Given the description of an element on the screen output the (x, y) to click on. 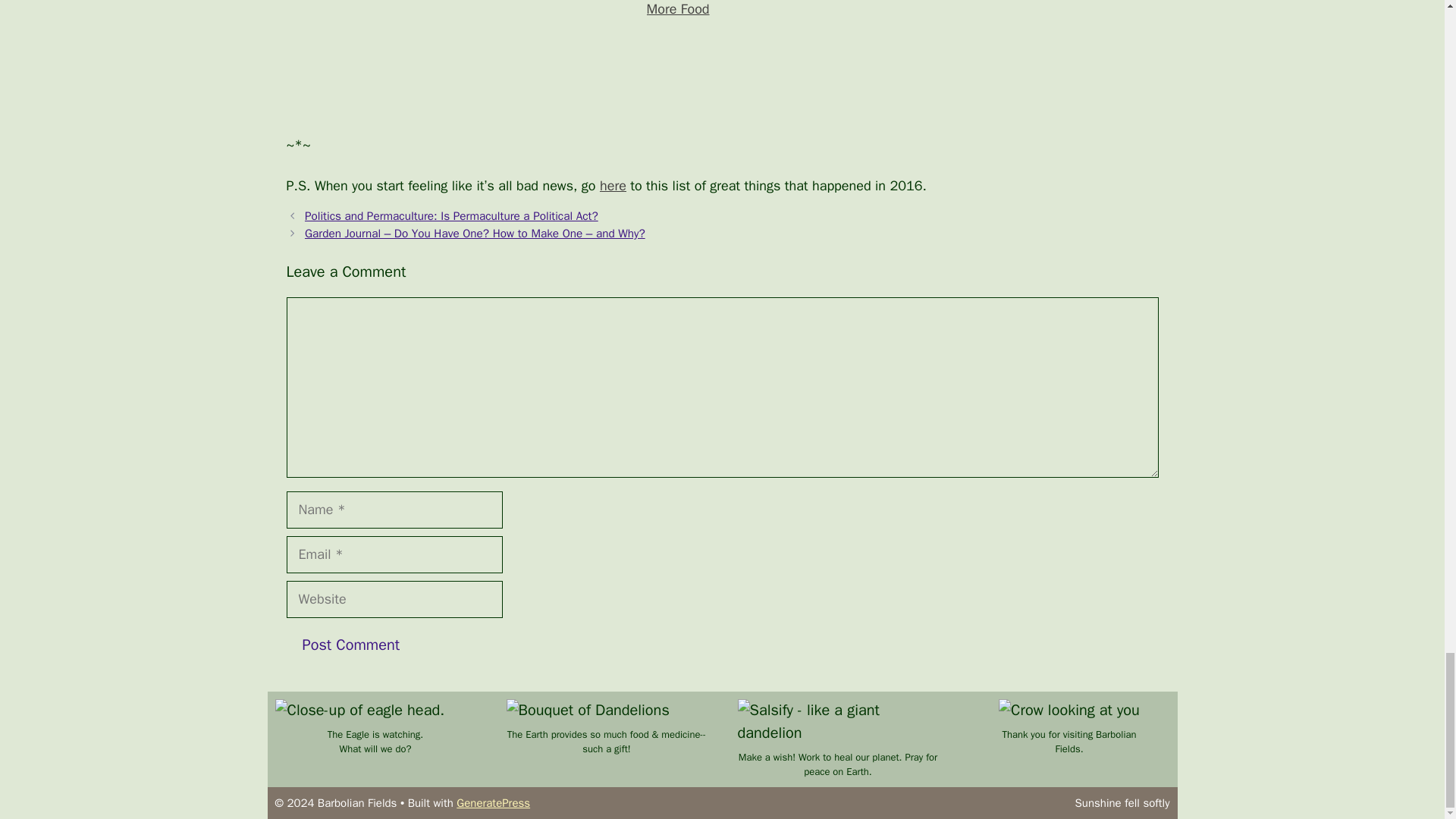
Post Comment (351, 645)
